Given the description of an element on the screen output the (x, y) to click on. 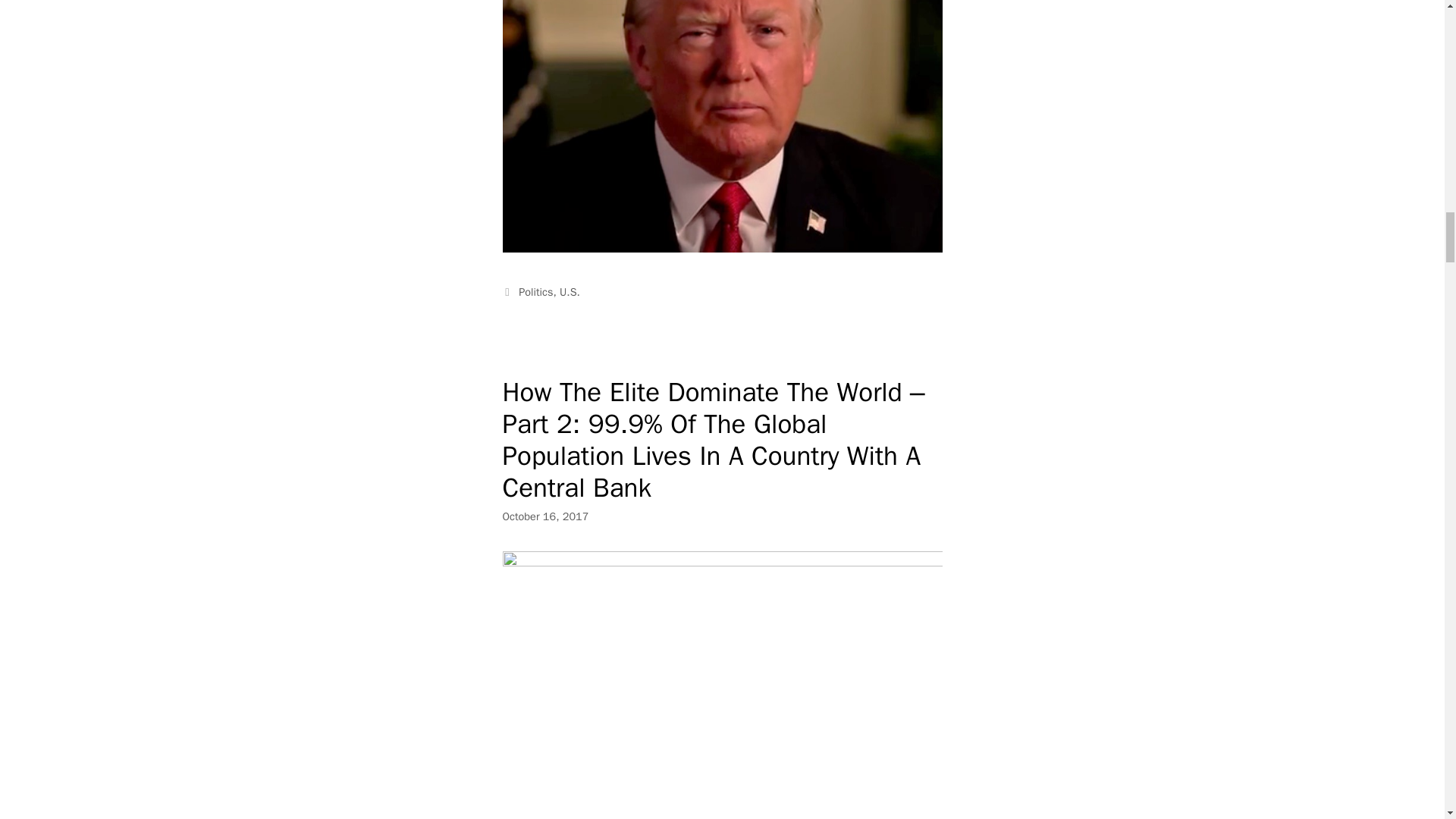
U.S. (569, 291)
Politics (535, 291)
